Given the description of an element on the screen output the (x, y) to click on. 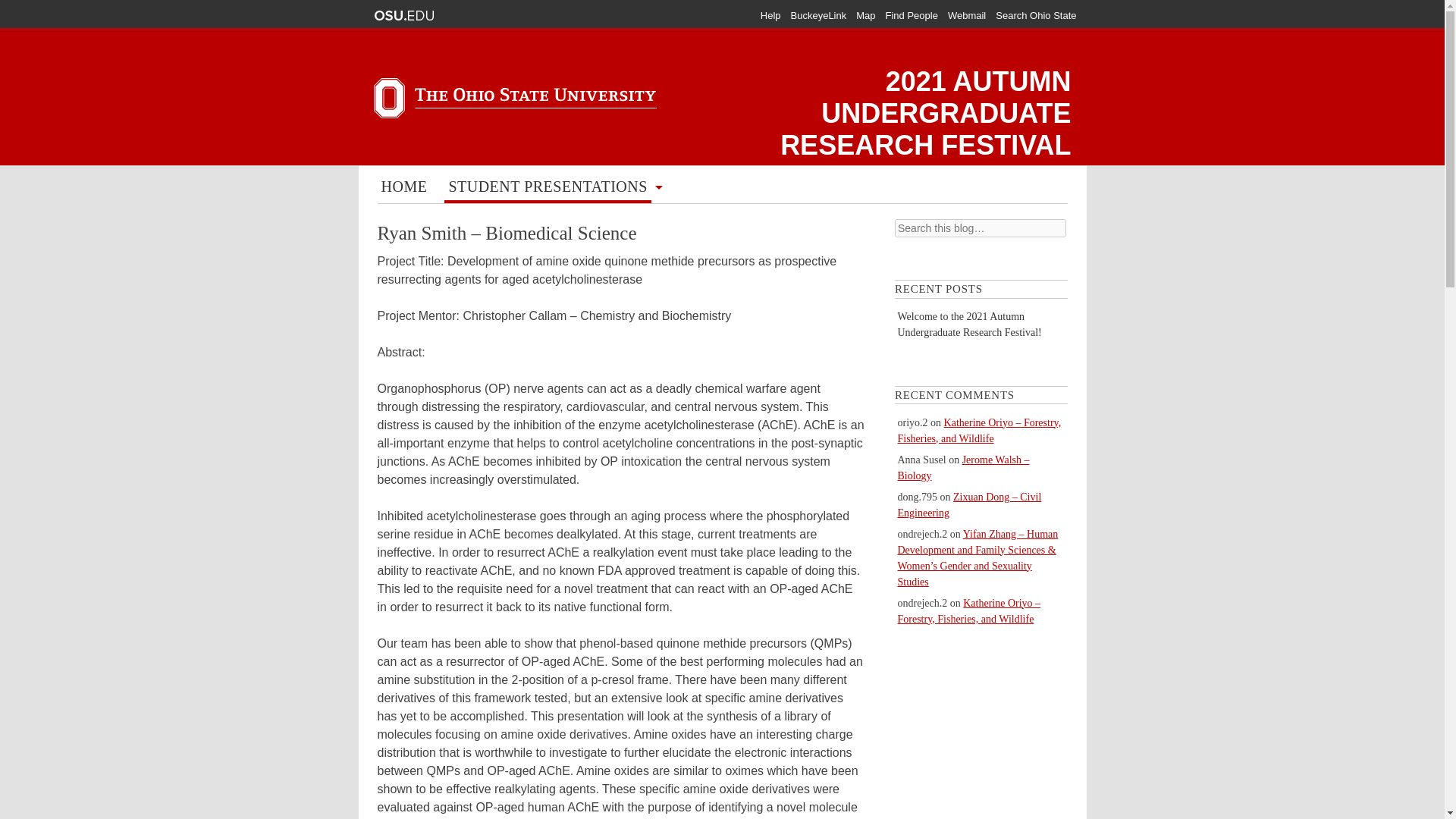
Help (770, 15)
HOME (403, 188)
Find People (911, 15)
BuckeyeLink (818, 15)
Search for: (980, 228)
Webmail (966, 15)
Map (865, 15)
Search Ohio State (1035, 15)
2021 AUTUMN UNDERGRADUATE RESEARCH FESTIVAL (925, 113)
STUDENT PRESENTATIONS (547, 188)
The Ohio State University (402, 15)
The Ohio State University (402, 15)
2021 Autumn Undergraduate Research Festival (925, 113)
